Given the description of an element on the screen output the (x, y) to click on. 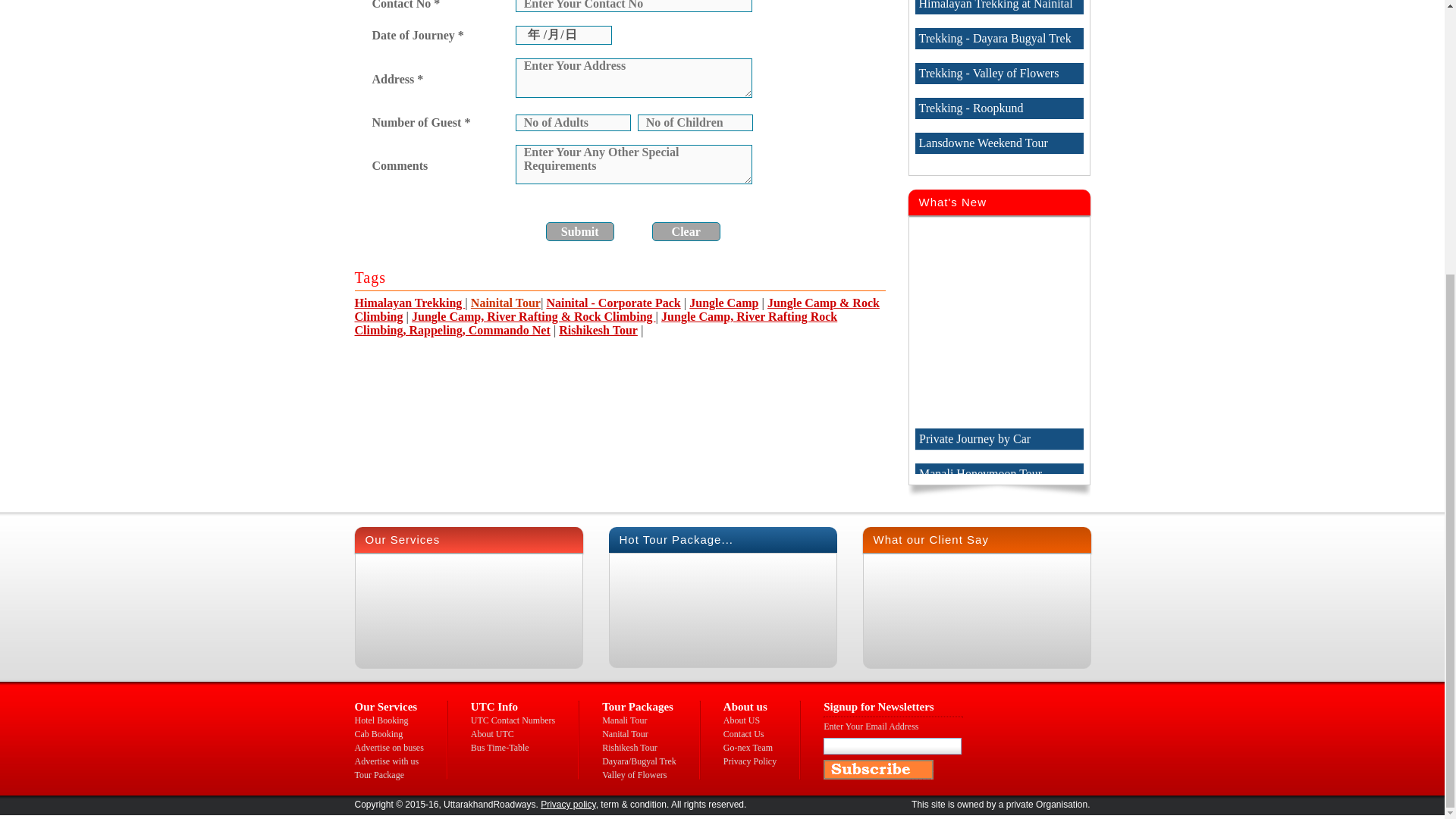
Manali Honeymoon Tour package (998, 513)
Himalayan Trekking at Nainital (998, 7)
Clear (686, 230)
Private Journey by Car (998, 471)
Trekking - Roopkund (998, 107)
Jungle Camp (723, 302)
Himalayan Trekking (410, 302)
Trekking - Valley of Flowers (998, 73)
Submit (580, 230)
Submit (580, 230)
Nainital Tour (505, 302)
Nainital - Corporate Pack (612, 302)
Lansdowne Weekend Tour (998, 142)
Rishikesh Tour (598, 329)
Trekking - Dayara Bugyal Trek (998, 38)
